Given the description of an element on the screen output the (x, y) to click on. 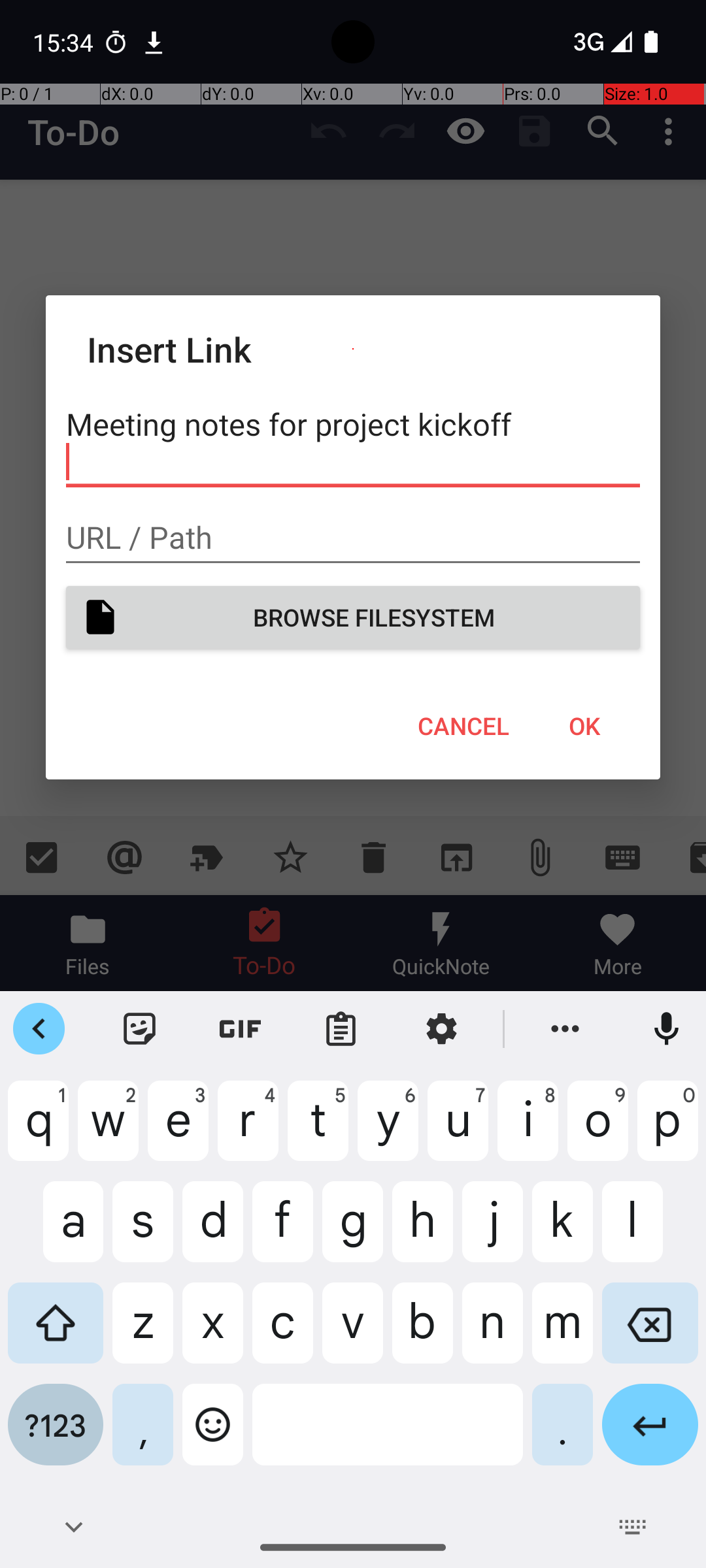
Meeting notes for project kickoff
 Element type: android.widget.EditText (352, 442)
